Given the description of an element on the screen output the (x, y) to click on. 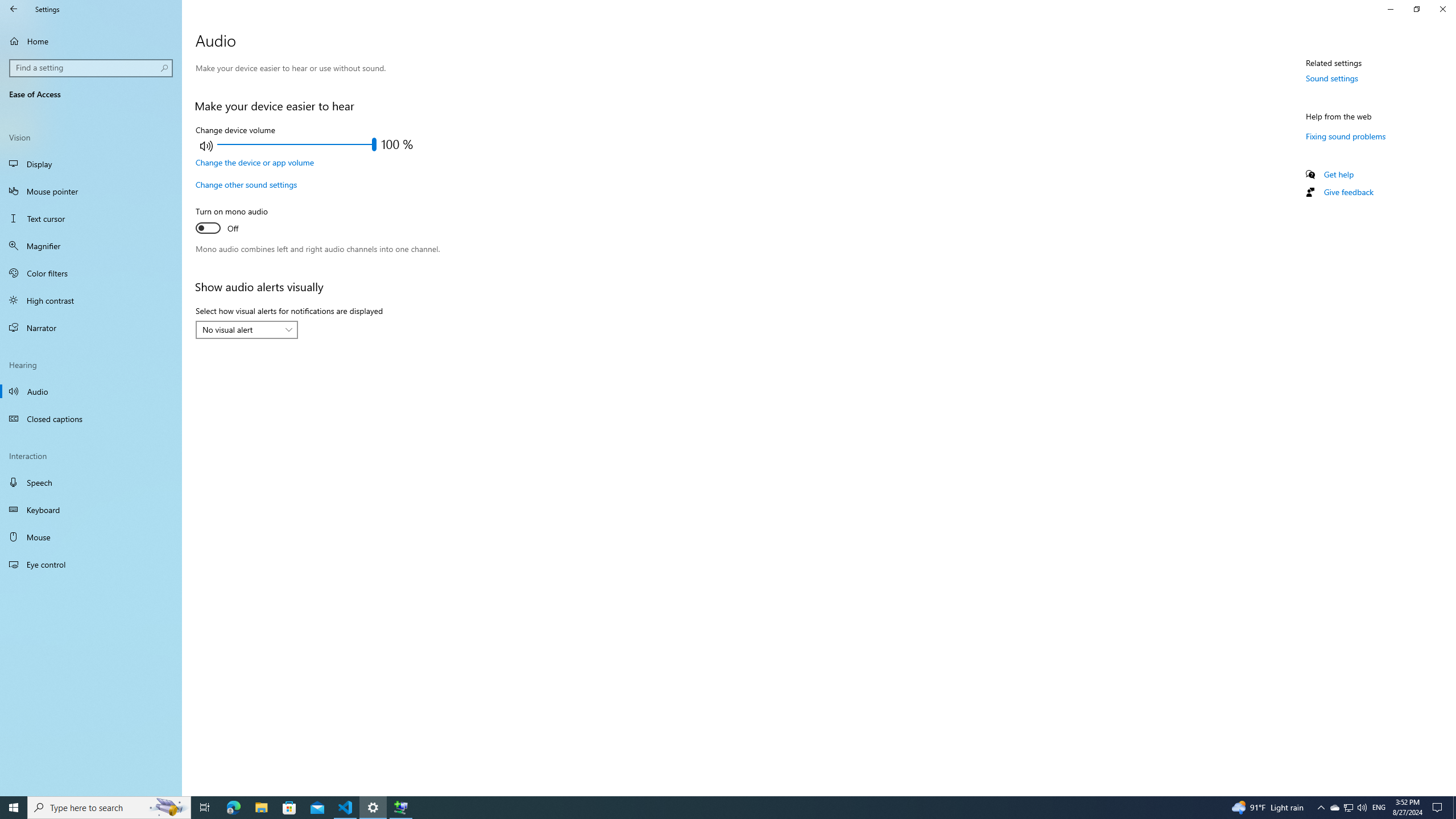
Magnifier (91, 245)
Extensible Wizards Host Process - 1 running window (400, 807)
Narrator (91, 327)
